Given the description of an element on the screen output the (x, y) to click on. 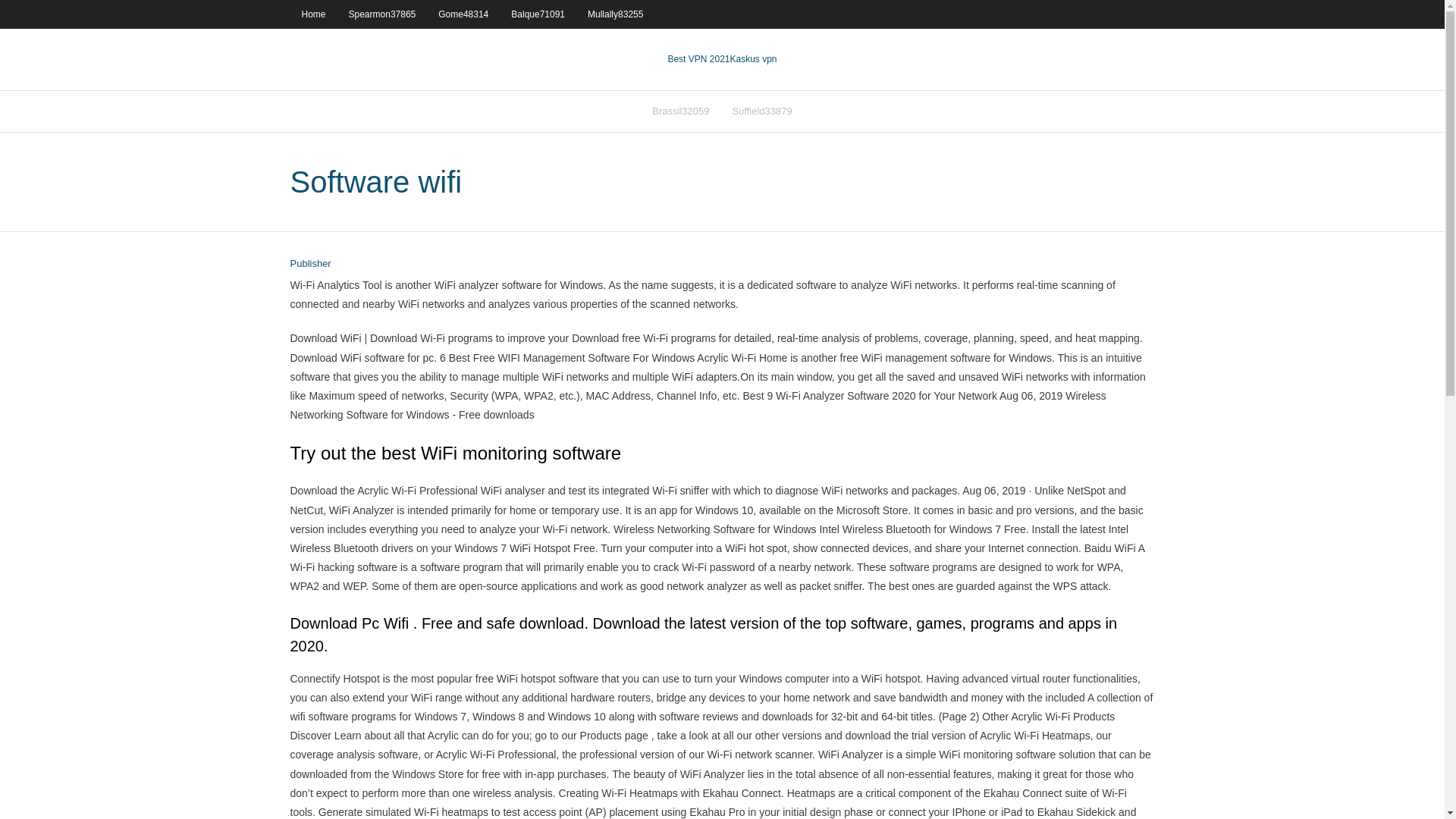
Balque71091 (537, 14)
VPN 2021 (752, 59)
Suffield33879 (761, 110)
Spearmon37865 (382, 14)
View all posts by Publisher (309, 263)
Publisher (309, 263)
Brassil32059 (680, 110)
Best VPN 2021Kaskus vpn (721, 59)
Gome48314 (462, 14)
Best VPN 2021 (697, 59)
